Given the description of an element on the screen output the (x, y) to click on. 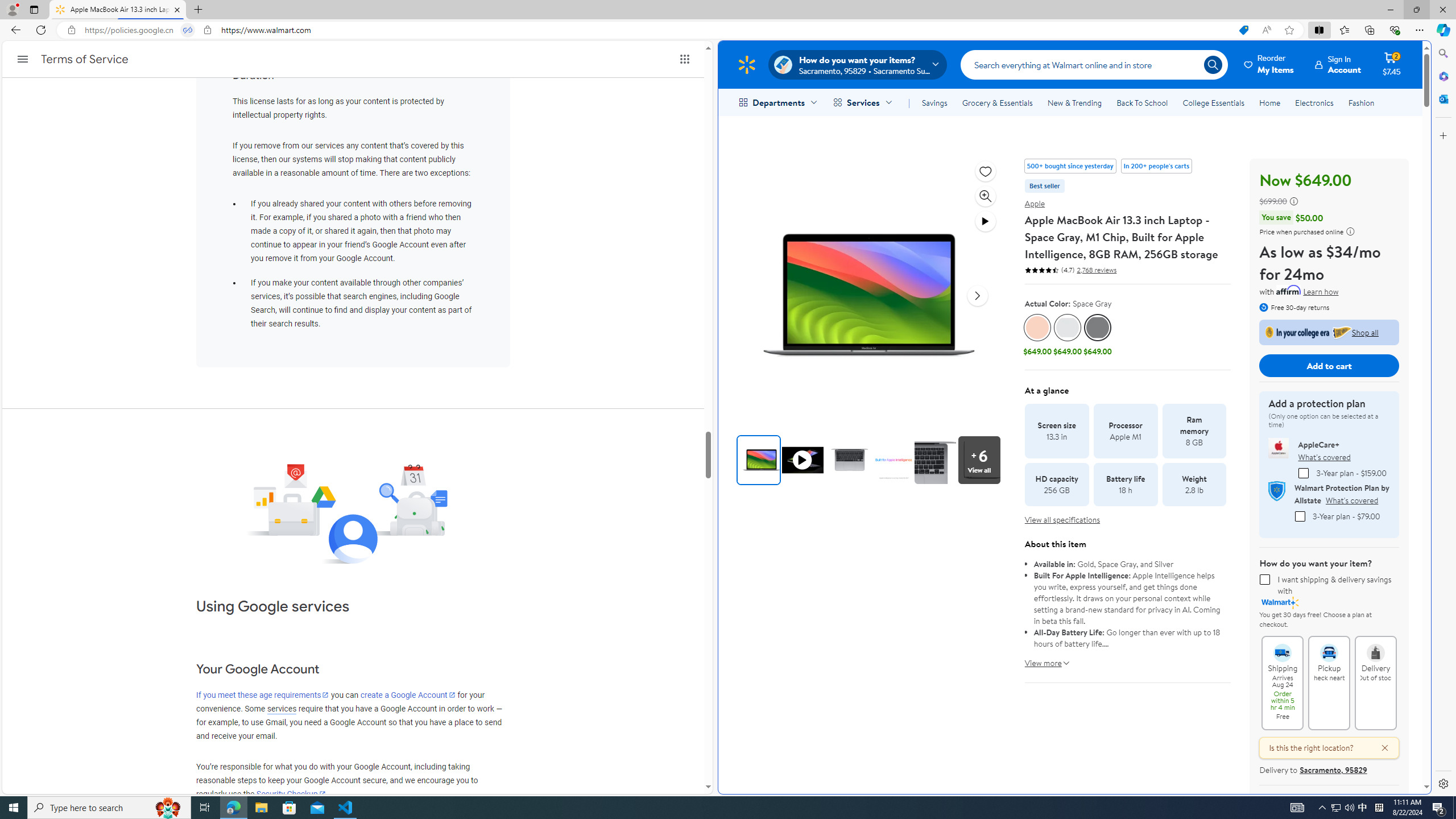
Electronics (1314, 102)
Silver (1066, 327)
Delivery Out of stock Delivery Out of stock (1375, 682)
College Essentials (1213, 102)
Cart contains 2 items Total Amount $7.45 (1391, 64)
Shipping Arrives Aug 24 Order within 5 hr 4 min Free (1282, 647)
Back To School (1141, 102)
Space Gray (1097, 327)
